Given the description of an element on the screen output the (x, y) to click on. 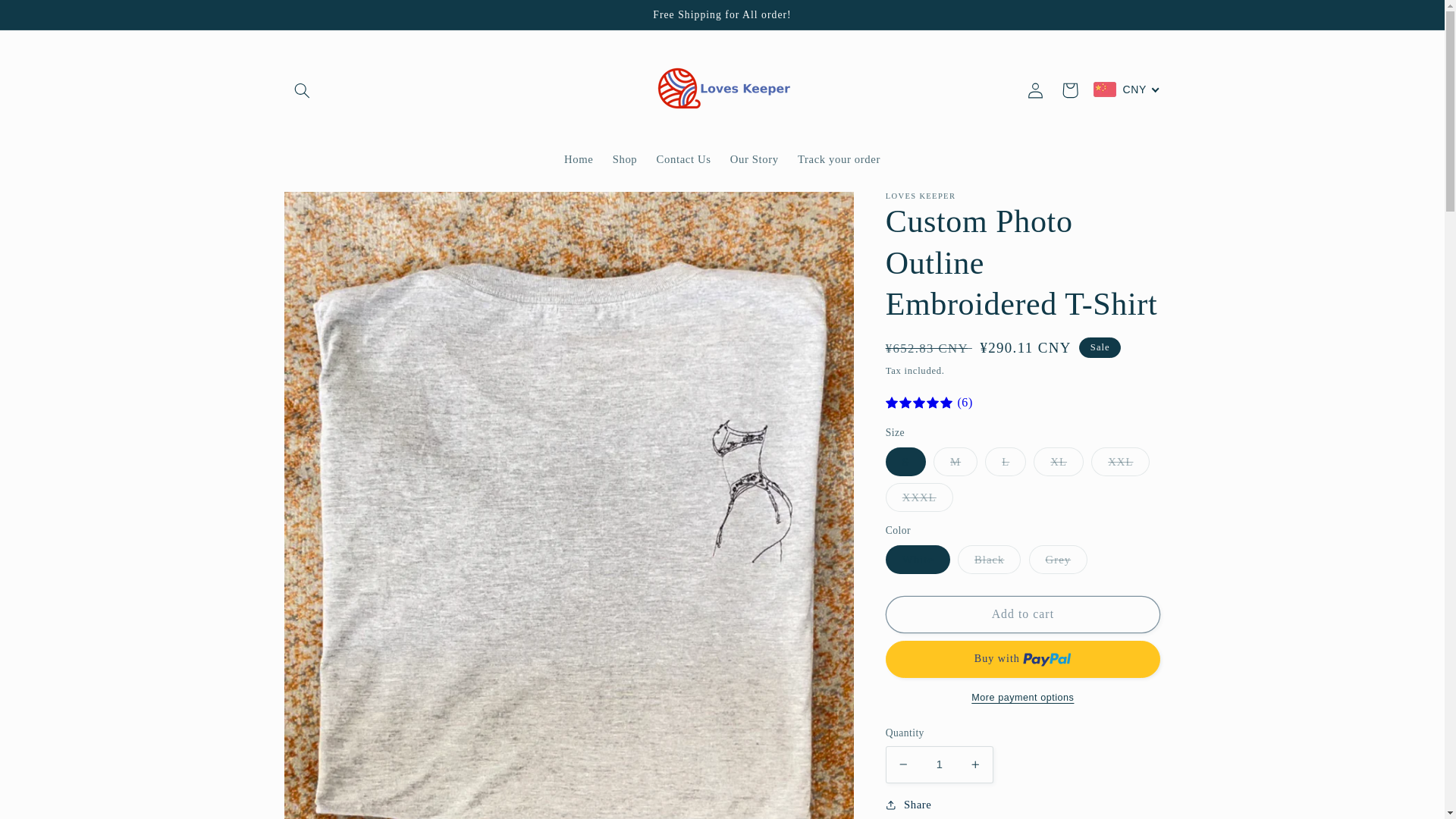
Skip to content (48, 18)
1 (939, 764)
Home (578, 159)
Track your order (838, 159)
Shop (624, 159)
Our Story (753, 159)
Log in (1034, 89)
Contact Us (683, 159)
